Given the description of an element on the screen output the (x, y) to click on. 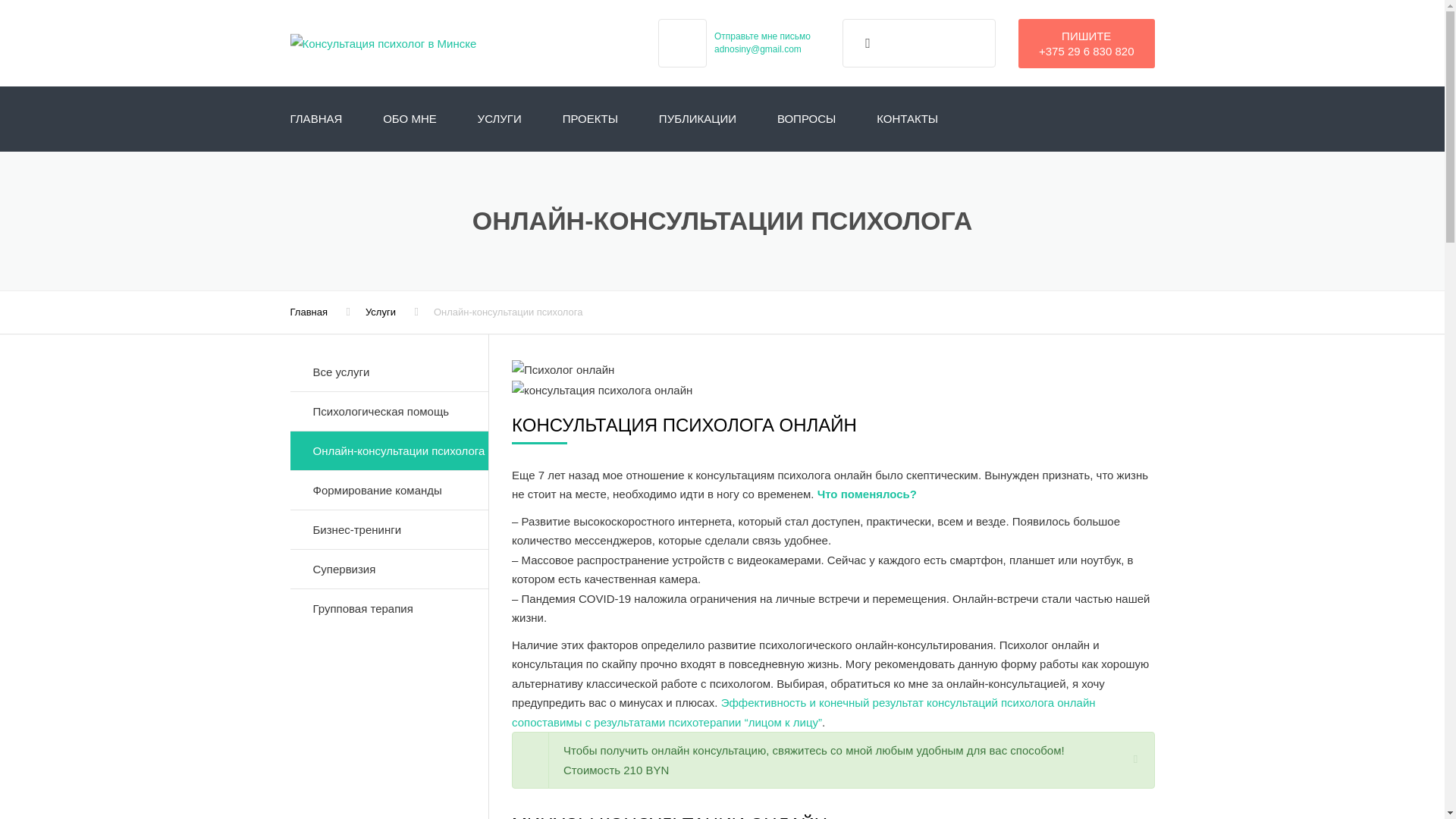
adnosiny@gmail.com Element type: text (757, 48)
+375 29 6 830 820 Element type: text (1086, 49)
2 Element type: hover (601, 390)
